Given the description of an element on the screen output the (x, y) to click on. 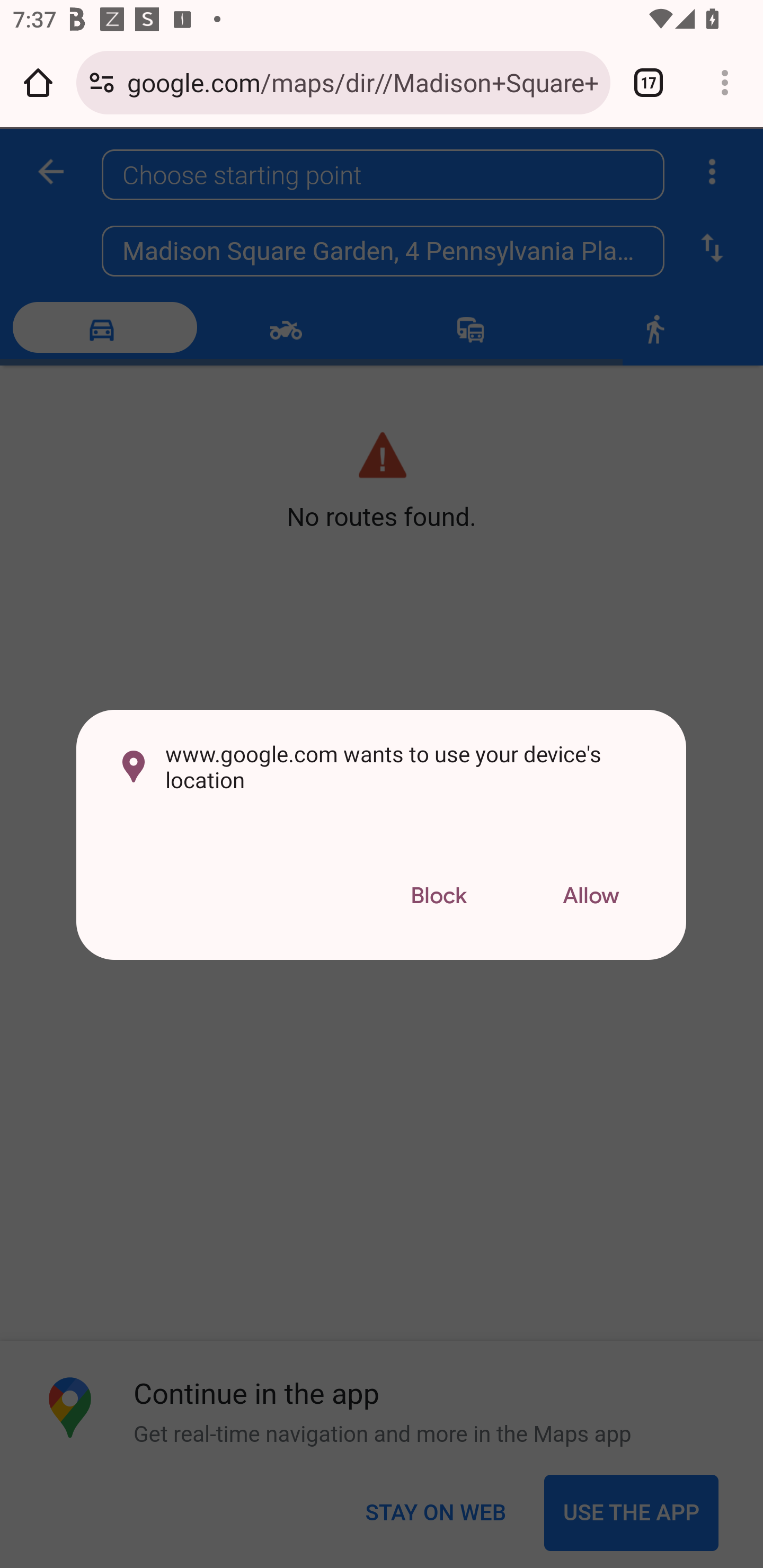
Block (438, 895)
Allow (590, 895)
